Given the description of an element on the screen output the (x, y) to click on. 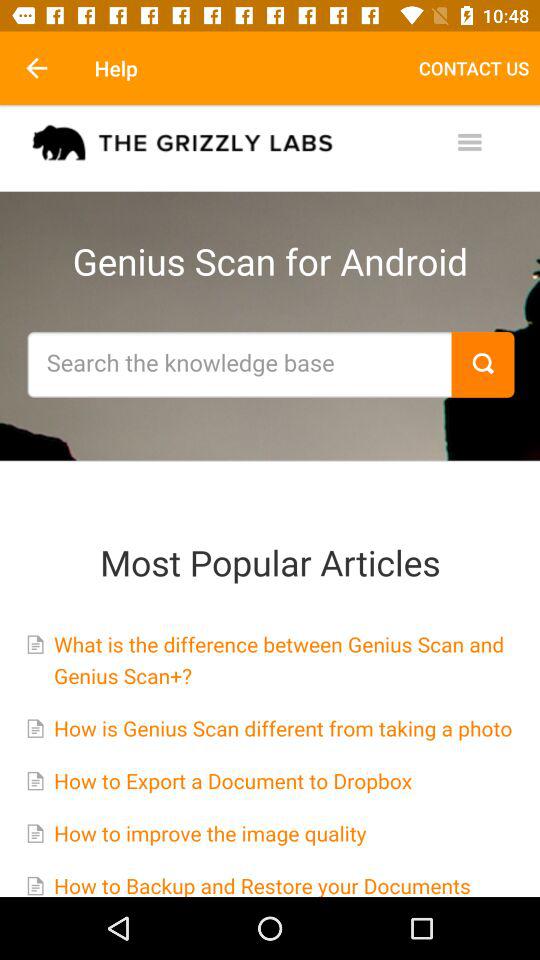
click item at the top right corner (474, 67)
